Given the description of an element on the screen output the (x, y) to click on. 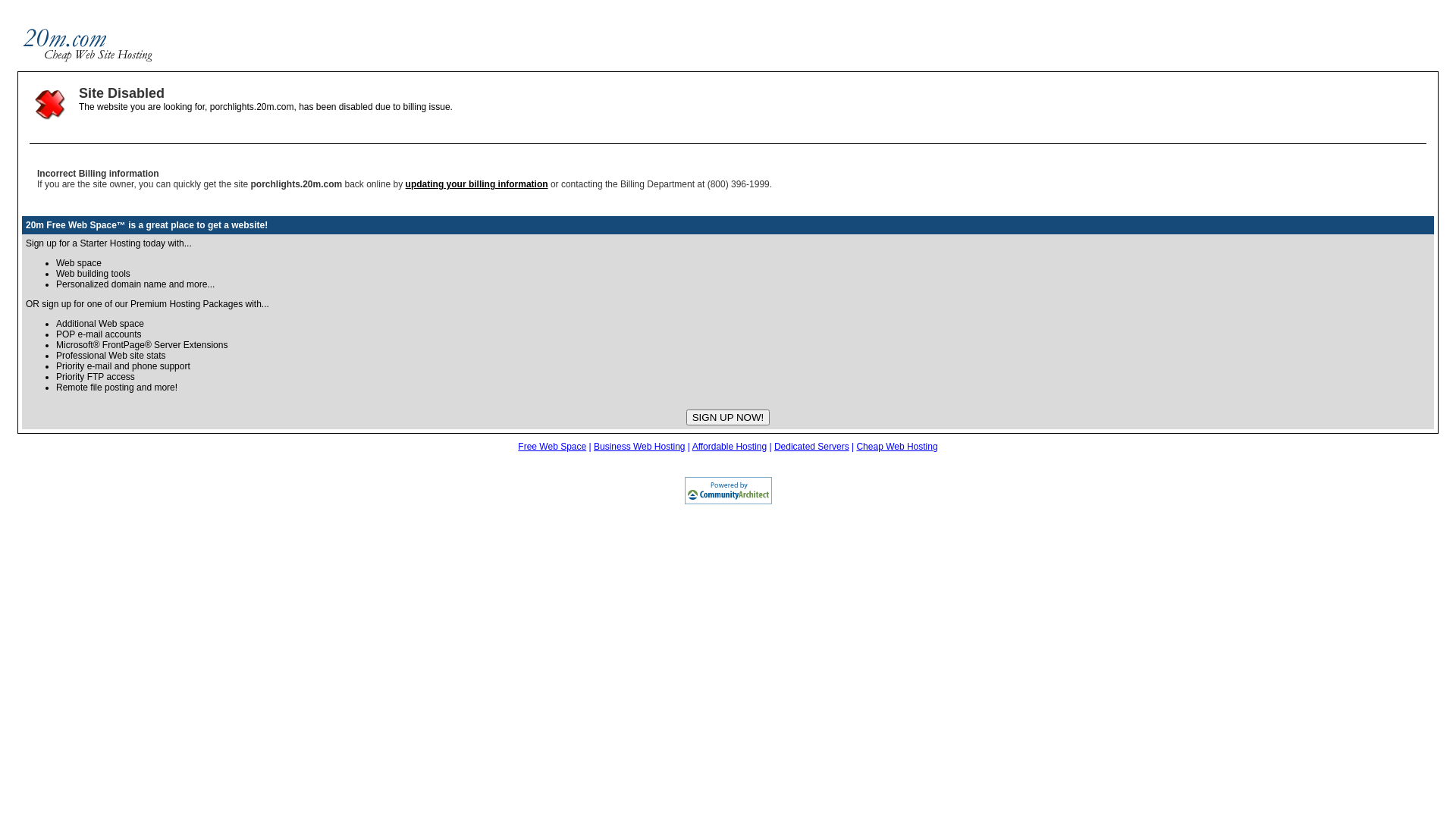
Cheap Web Hosting Element type: text (896, 446)
Business Web Hosting Element type: text (639, 446)
Dedicated Servers Element type: text (811, 446)
updating your billing information Element type: text (476, 183)
SIGN UP NOW! Element type: text (728, 417)
Free Web Space Element type: text (551, 446)
Affordable Hosting Element type: text (729, 446)
